Given the description of an element on the screen output the (x, y) to click on. 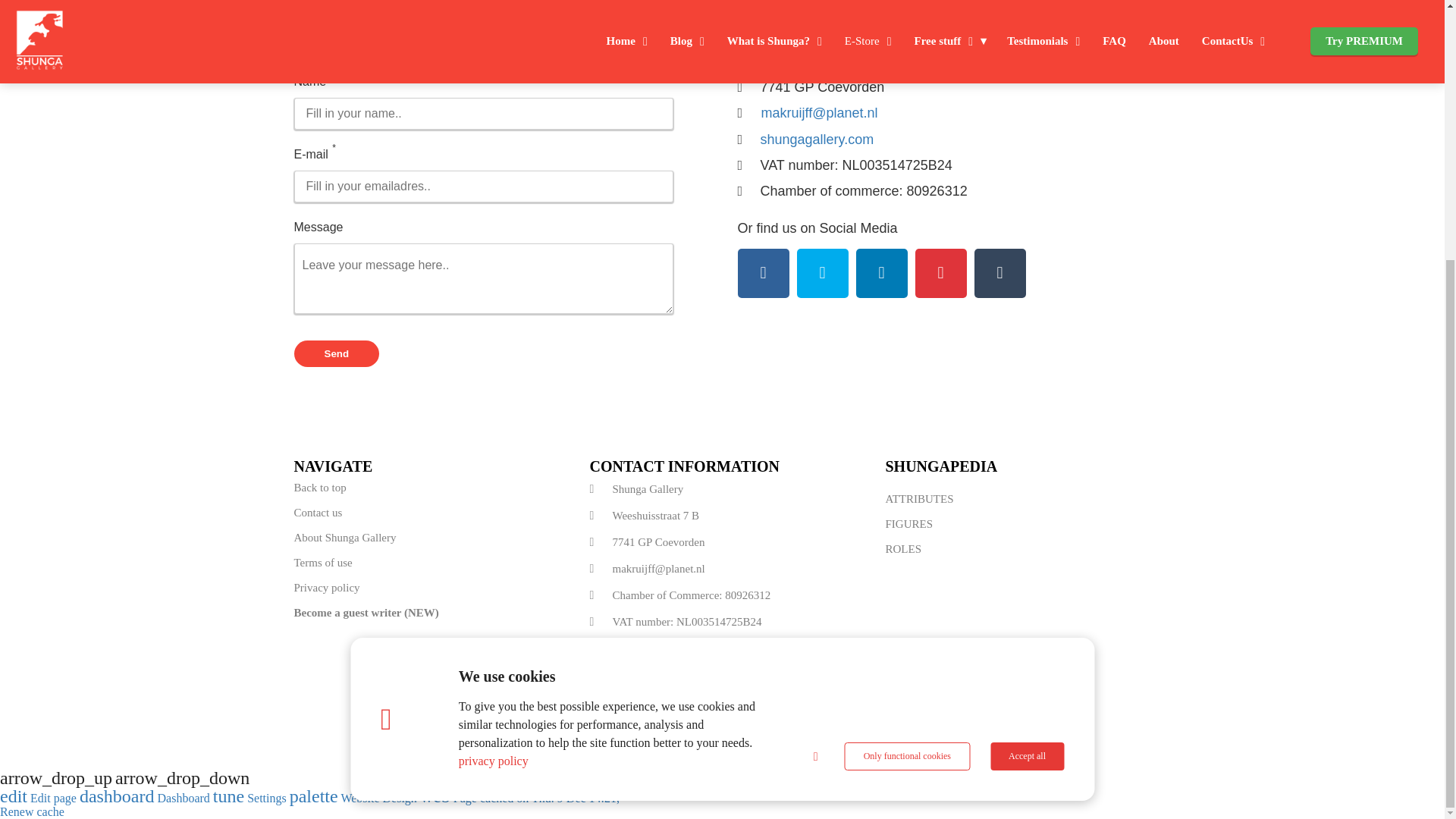
Contact us (426, 511)
Terms of use (426, 561)
About Shunga Gallery (426, 537)
Back to top (426, 487)
shungagallery.com (816, 138)
Privacy policy (426, 587)
Send (337, 353)
